Given the description of an element on the screen output the (x, y) to click on. 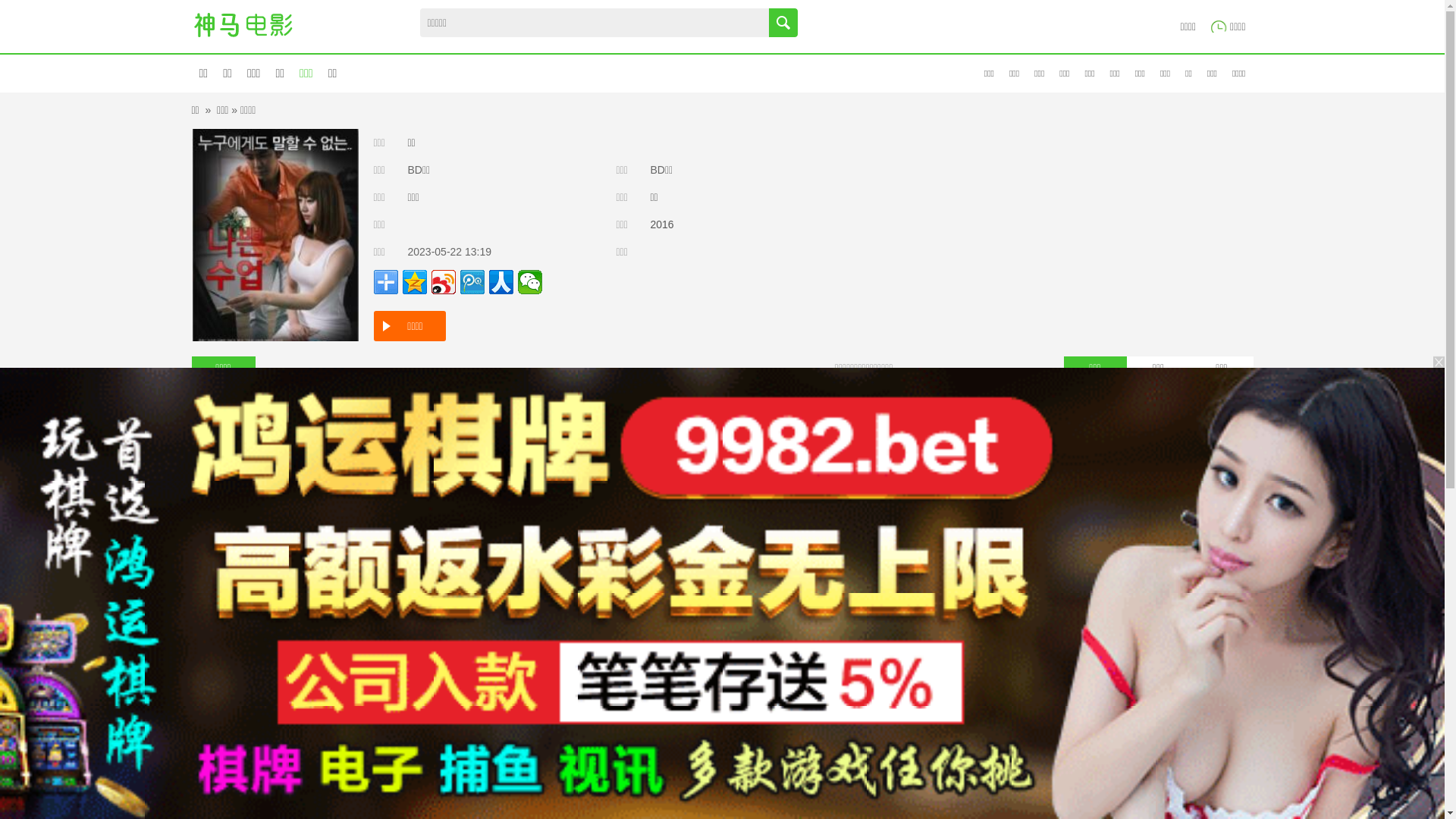
2016 Element type: text (662, 224)
